Given the description of an element on the screen output the (x, y) to click on. 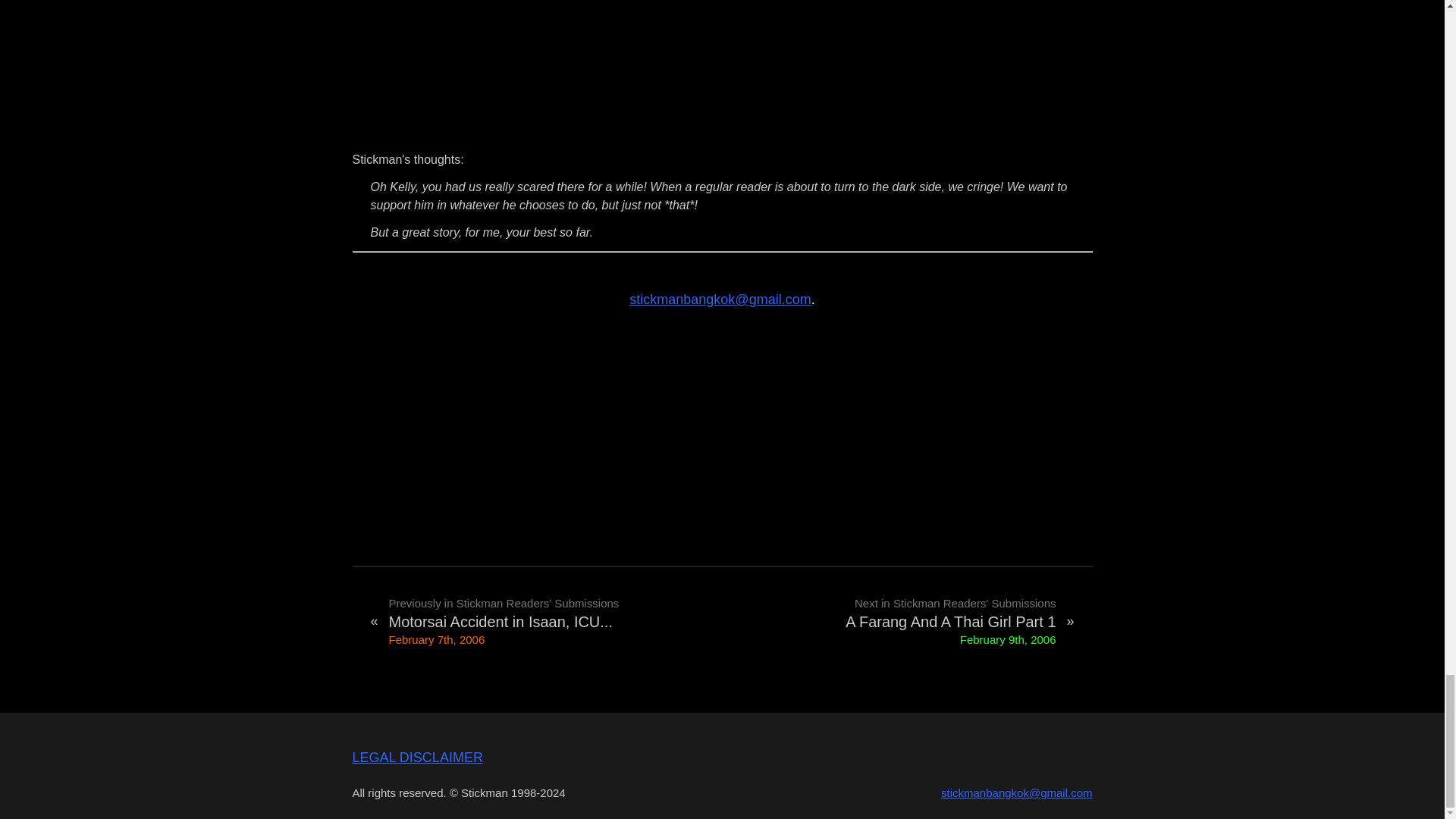
LEGAL DISCLAIMER (416, 757)
